Given the description of an element on the screen output the (x, y) to click on. 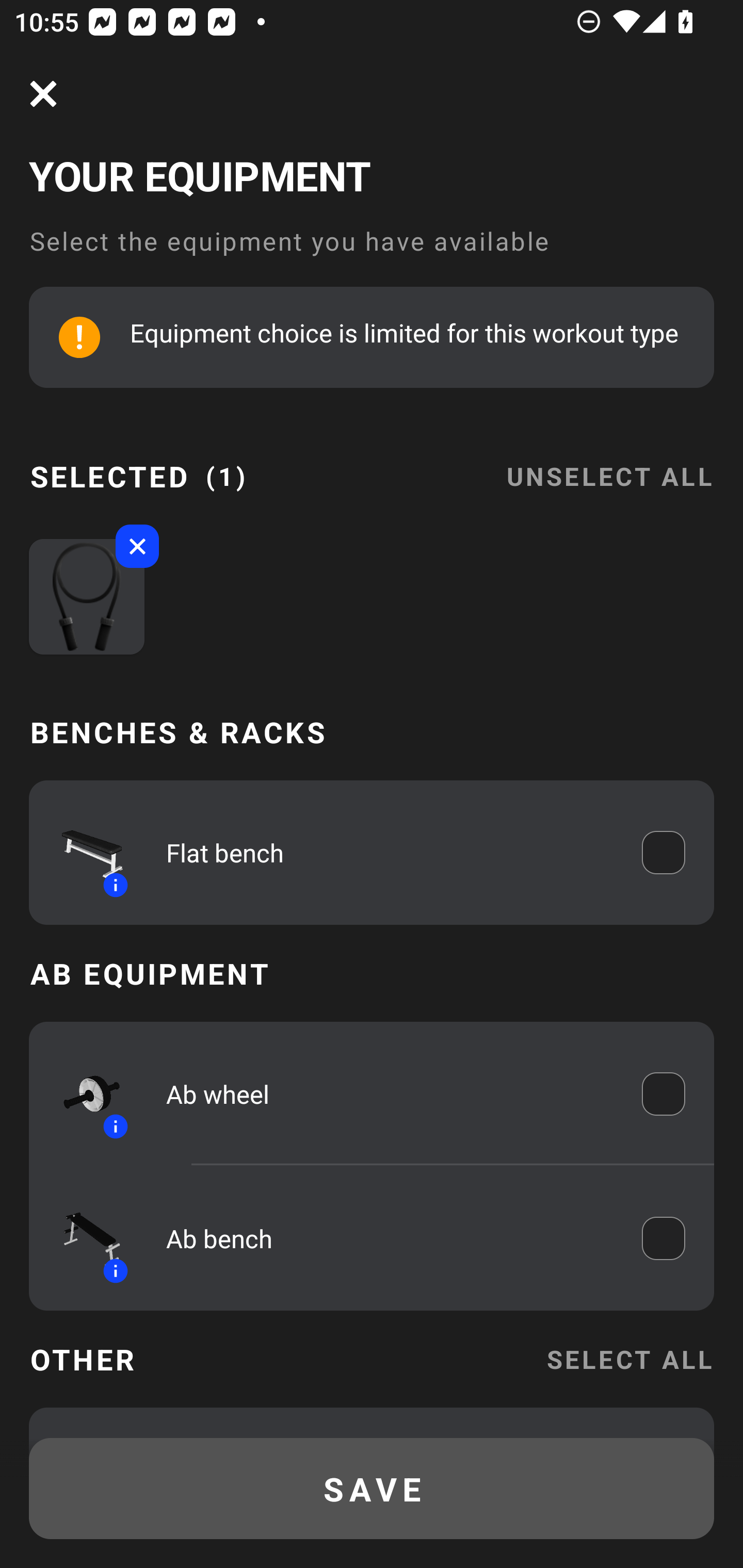
Navigation icon (43, 93)
UNSELECT ALL (609, 463)
Equipment icon Information icon (82, 852)
Flat bench (389, 852)
Equipment icon Information icon (82, 1093)
Ab wheel (389, 1093)
Equipment icon Information icon (82, 1237)
Ab bench (389, 1237)
SELECT ALL (629, 1358)
SAVE (371, 1488)
